Given the description of an element on the screen output the (x, y) to click on. 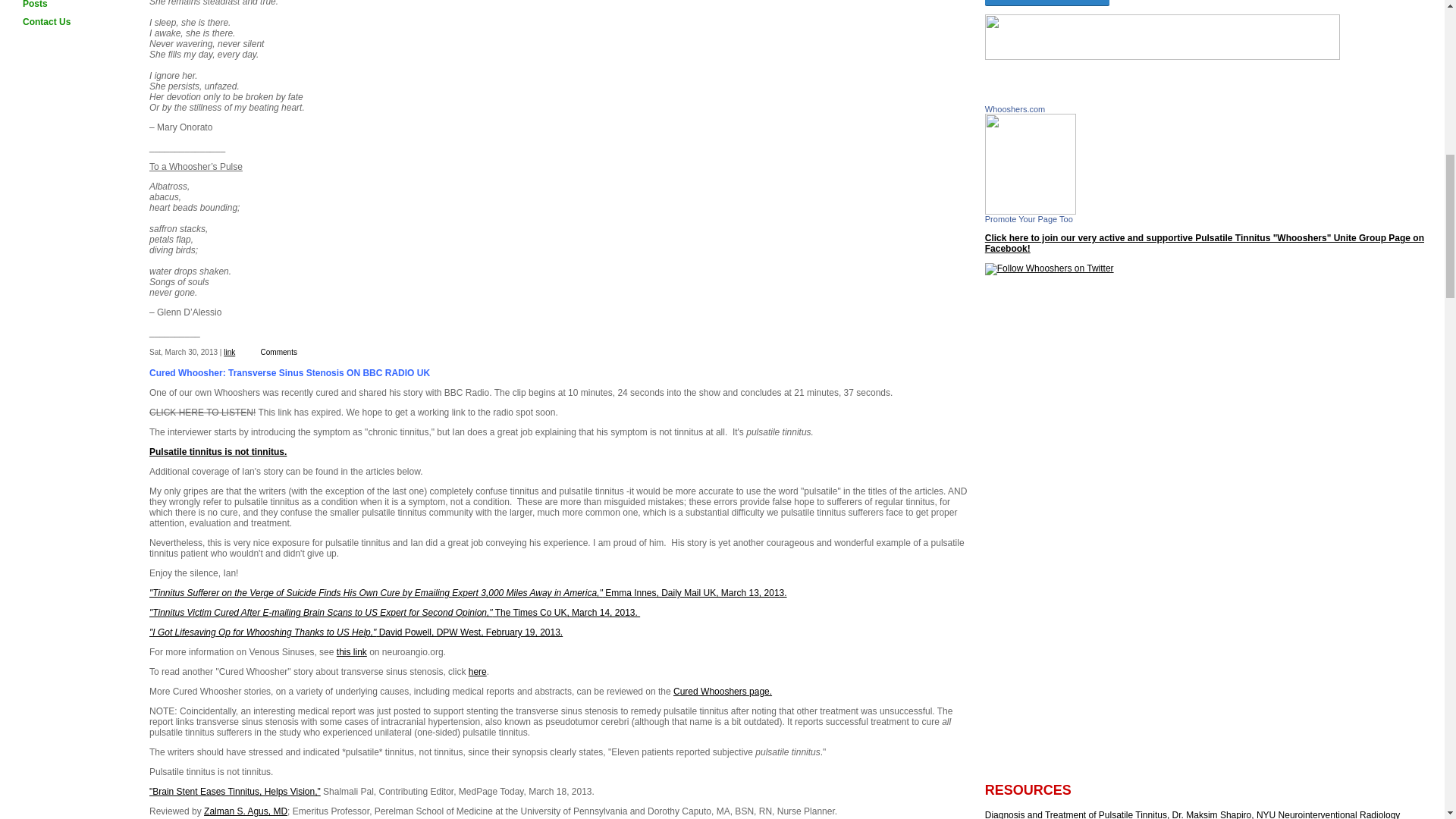
Pulsatile tinnitus is not tinnitus. (217, 451)
Whooshers.com (1015, 108)
Make your own badge! (1029, 218)
Contact Us (64, 22)
Whooshers.com (1030, 211)
Cured Whooshers page. (721, 691)
Zalman S. Agus, MD (244, 810)
